Given the description of an element on the screen output the (x, y) to click on. 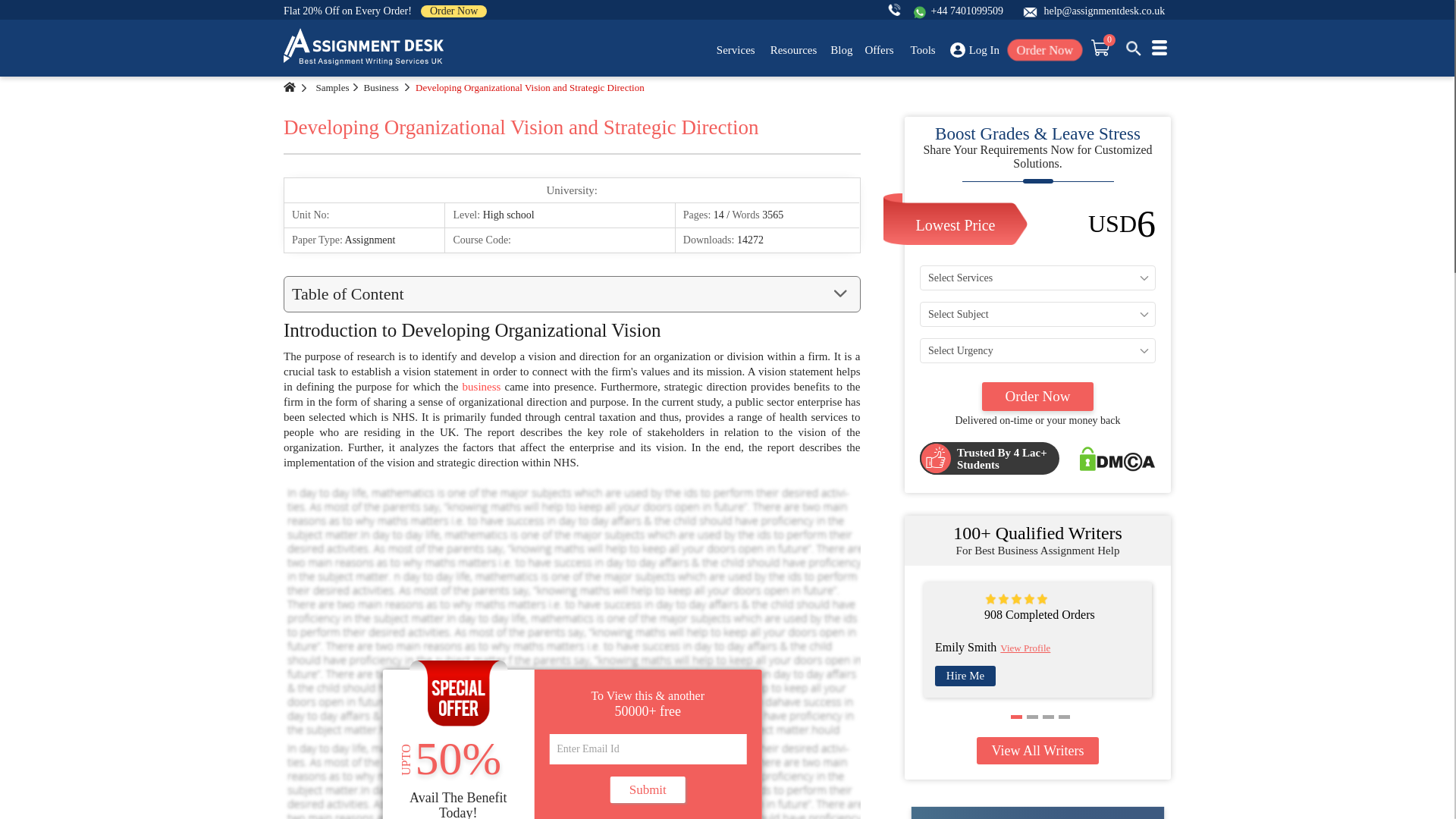
Order Now (453, 10)
Assignment help (363, 47)
Home (289, 86)
